Given the description of an element on the screen output the (x, y) to click on. 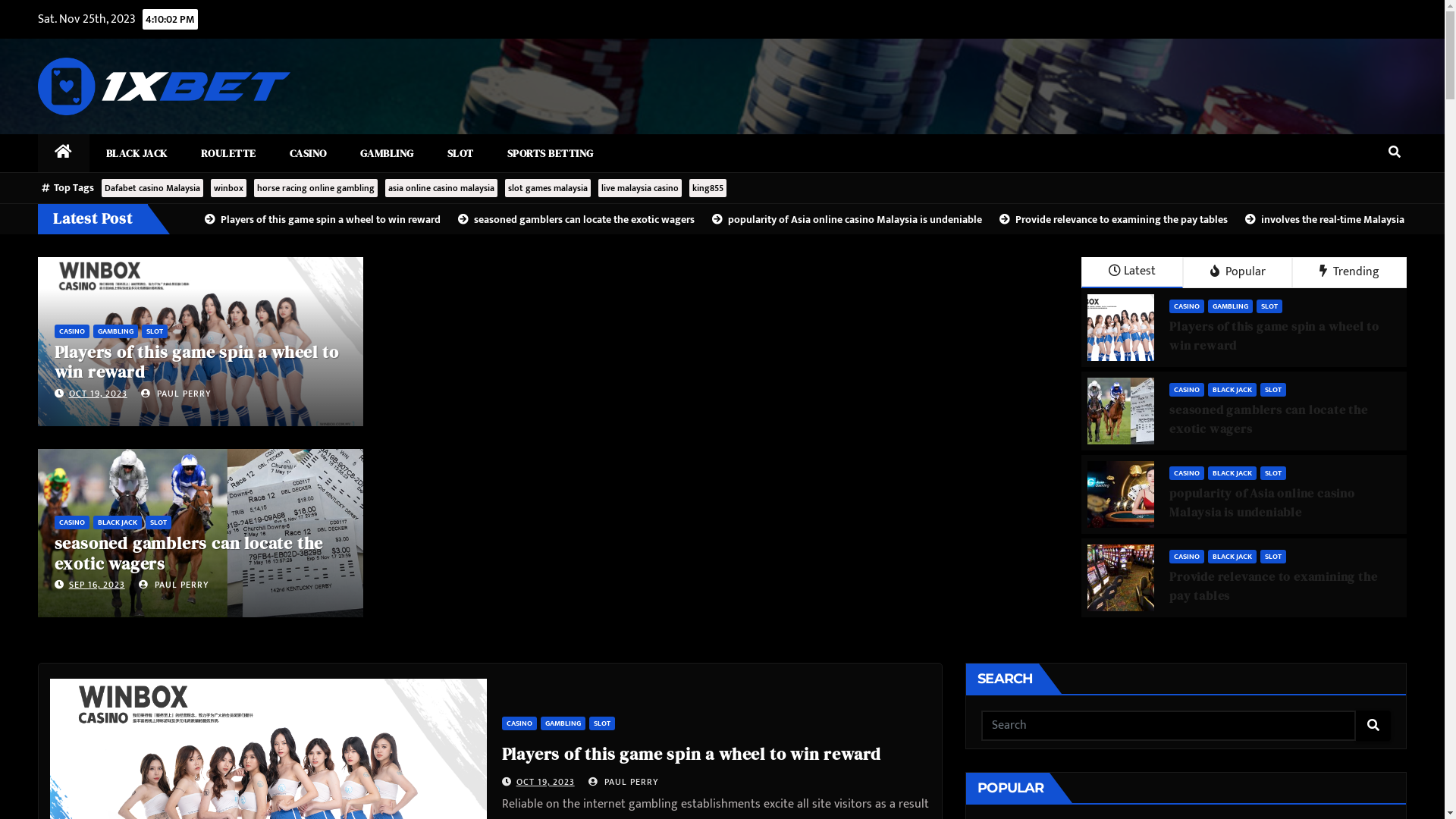
Players of this game spin a wheel to win reward Element type: text (1274, 335)
Latest Element type: text (1132, 272)
CASINO Element type: text (71, 331)
seasoned gamblers can locate the exotic wagers Element type: text (569, 219)
GAMBLING Element type: text (385, 153)
Provide relevance to examining the pay tables Element type: text (1107, 219)
Trending Element type: text (1349, 272)
PAUL PERRY Element type: text (173, 584)
Players of this game spin a wheel to win reward Element type: text (196, 361)
Players of this game spin a wheel to win reward Element type: text (315, 219)
SLOT Element type: text (1273, 473)
CASINO Element type: text (1186, 389)
OCT 19, 2023 Element type: text (545, 781)
horse racing online gambling Element type: text (315, 187)
GAMBLING Element type: text (115, 331)
CASINO Element type: text (308, 153)
popularity of Asia online casino Malaysia is undeniable Element type: text (1262, 502)
SLOT Element type: text (158, 522)
CASINO Element type: text (1186, 556)
BLACK JACK Element type: text (117, 522)
SLOT Element type: text (460, 153)
SPORTS BETTING Element type: text (549, 153)
SLOT Element type: text (602, 723)
SEP 16, 2023 Element type: text (97, 584)
BLACK JACK Element type: text (1232, 556)
CASINO Element type: text (71, 522)
OCT 19, 2023 Element type: text (98, 392)
involves the real-time Malaysia casino Element type: text (1333, 219)
SLOT Element type: text (154, 331)
SLOT Element type: text (1273, 556)
SLOT Element type: text (1273, 389)
PAUL PERRY Element type: text (623, 781)
ROULETTE Element type: text (227, 153)
Dafabet casino Malaysia Element type: text (152, 187)
live malaysia casino Element type: text (639, 187)
BLACK JACK Element type: text (1232, 473)
popularity of Asia online casino Malaysia is undeniable Element type: text (840, 219)
PAUL PERRY Element type: text (176, 392)
GAMBLING Element type: text (1230, 306)
CASINO Element type: text (519, 723)
slot games malaysia Element type: text (547, 187)
CASINO Element type: text (1186, 306)
Popular Element type: text (1237, 272)
seasoned gamblers can locate the exotic wagers Element type: text (1268, 418)
GAMBLING Element type: text (562, 723)
seasoned gamblers can locate the exotic wagers Element type: text (188, 552)
SLOT Element type: text (1269, 306)
CASINO Element type: text (1186, 473)
winbox Element type: text (228, 187)
BLACK JACK Element type: text (1232, 389)
Players of this game spin a wheel to win reward Element type: text (691, 753)
asia online casino malaysia Element type: text (441, 187)
king855 Element type: text (707, 187)
Provide relevance to examining the pay tables Element type: text (1273, 585)
BLACK JACK Element type: text (136, 153)
